Given the description of an element on the screen output the (x, y) to click on. 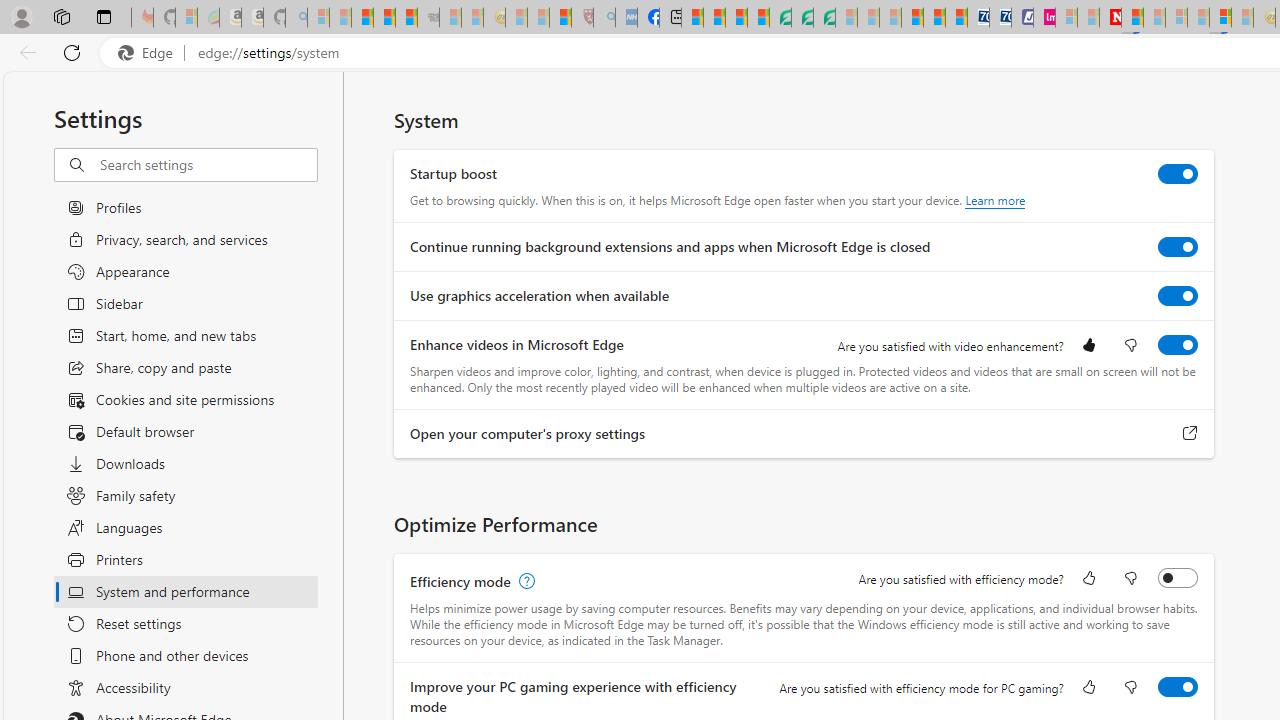
The Weather Channel - MSN (362, 17)
Cheap Car Rentals - Save70.com (978, 17)
Latest Politics News & Archive | Newsweek.com (1110, 17)
Edge (150, 53)
Microsoft Word - consumer-privacy address update 2.2021 (824, 17)
Efficiency mode, learn more (523, 582)
Improve your PC gaming experience with efficiency mode (1178, 686)
Startup boost (1178, 174)
Microsoft account | Privacy - Sleeping (1066, 17)
Efficiency mode (1178, 578)
